Given the description of an element on the screen output the (x, y) to click on. 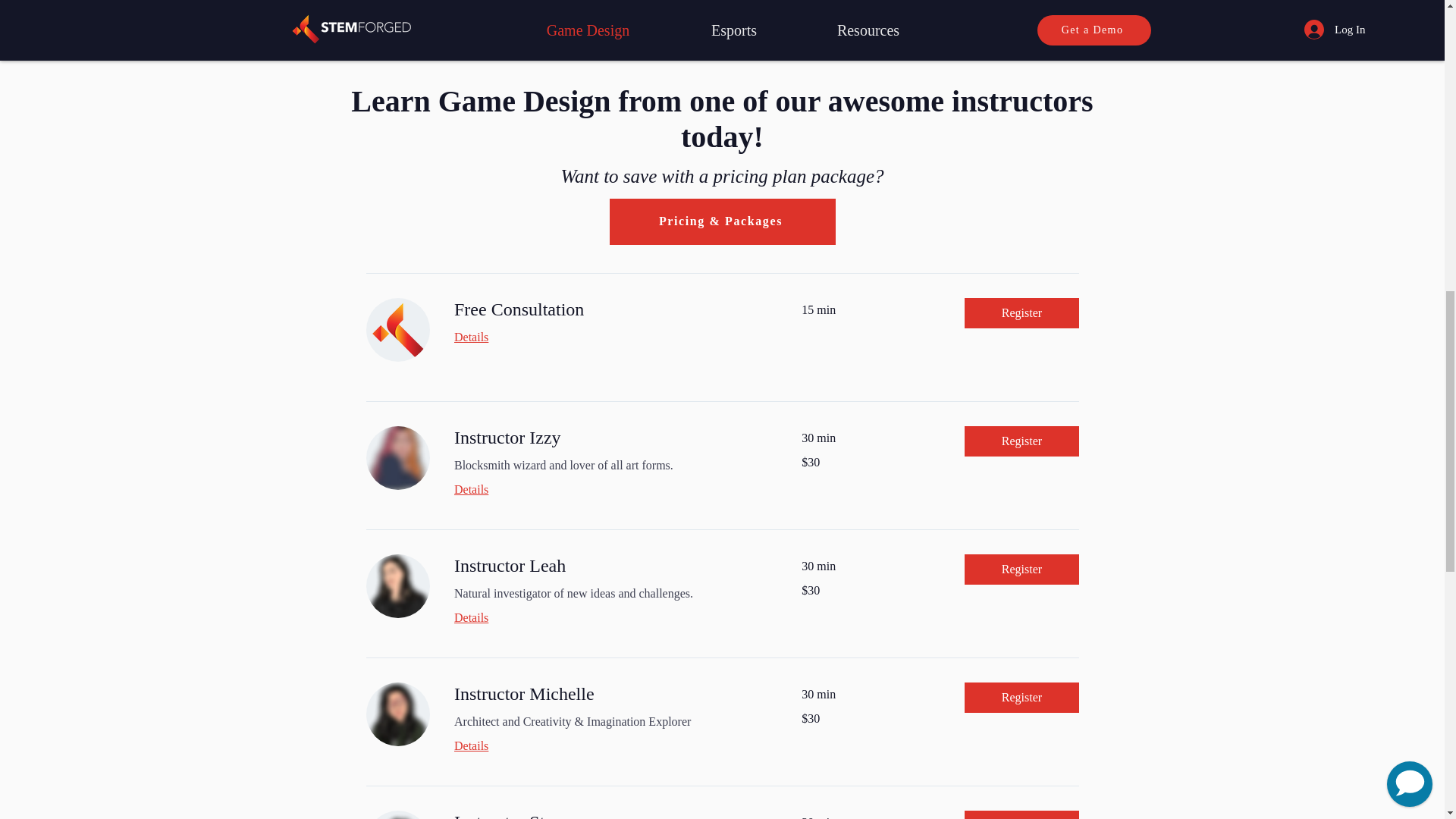
Register (1020, 697)
Register (1020, 814)
Details (608, 337)
Register (1020, 569)
Register (1020, 313)
Instructor Leah (608, 566)
Details (608, 489)
Instructor Storm (608, 814)
Details (608, 618)
Instructor Izzy (608, 437)
Instructor Michelle (608, 694)
Register (1020, 440)
Details (608, 746)
Free Consultation (608, 310)
